Given the description of an element on the screen output the (x, y) to click on. 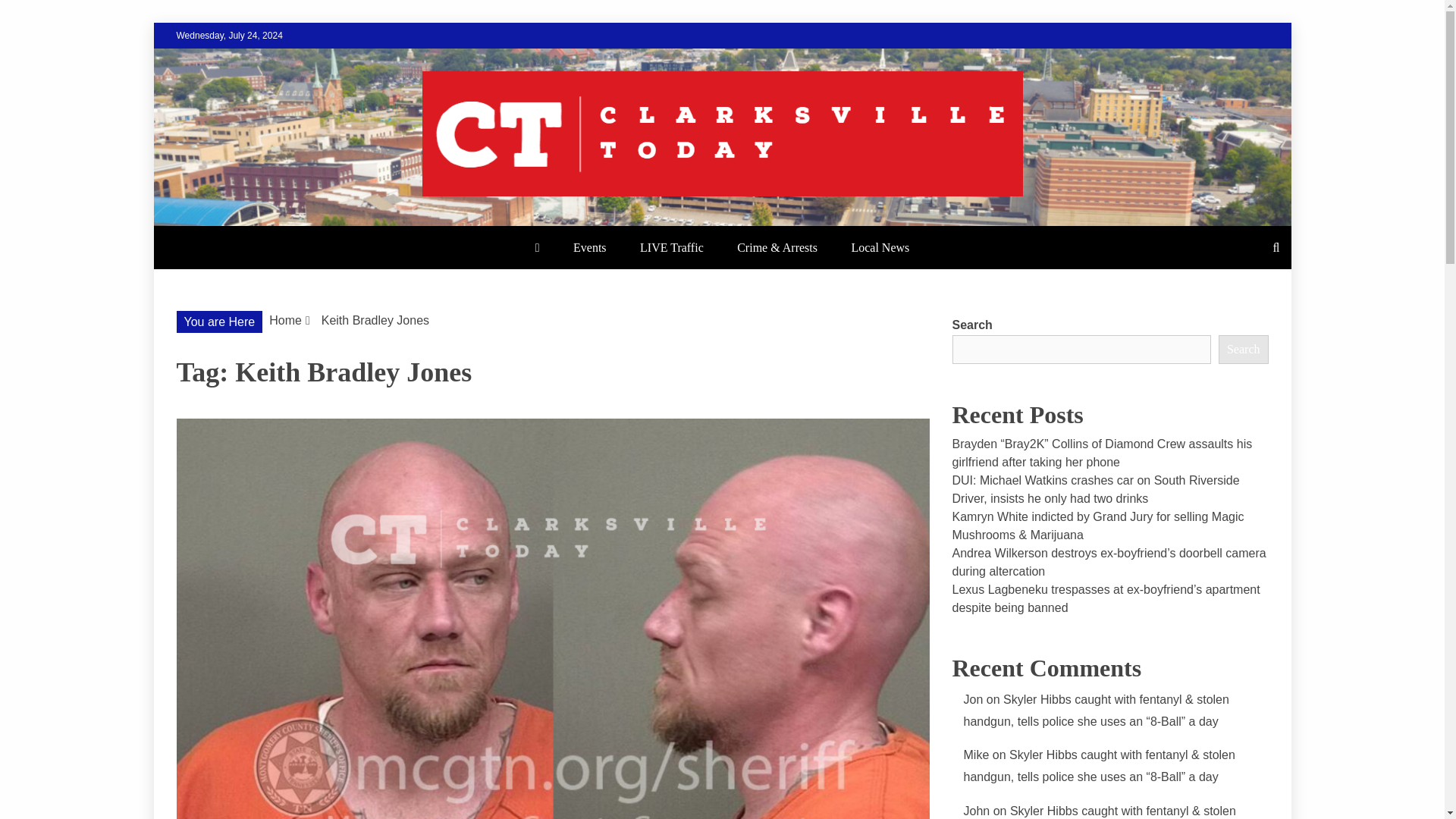
Local News (879, 247)
Search (31, 13)
Home (285, 319)
CLARKSVILLE TODAY (351, 224)
Events (589, 247)
LIVE Traffic (671, 247)
